Given the description of an element on the screen output the (x, y) to click on. 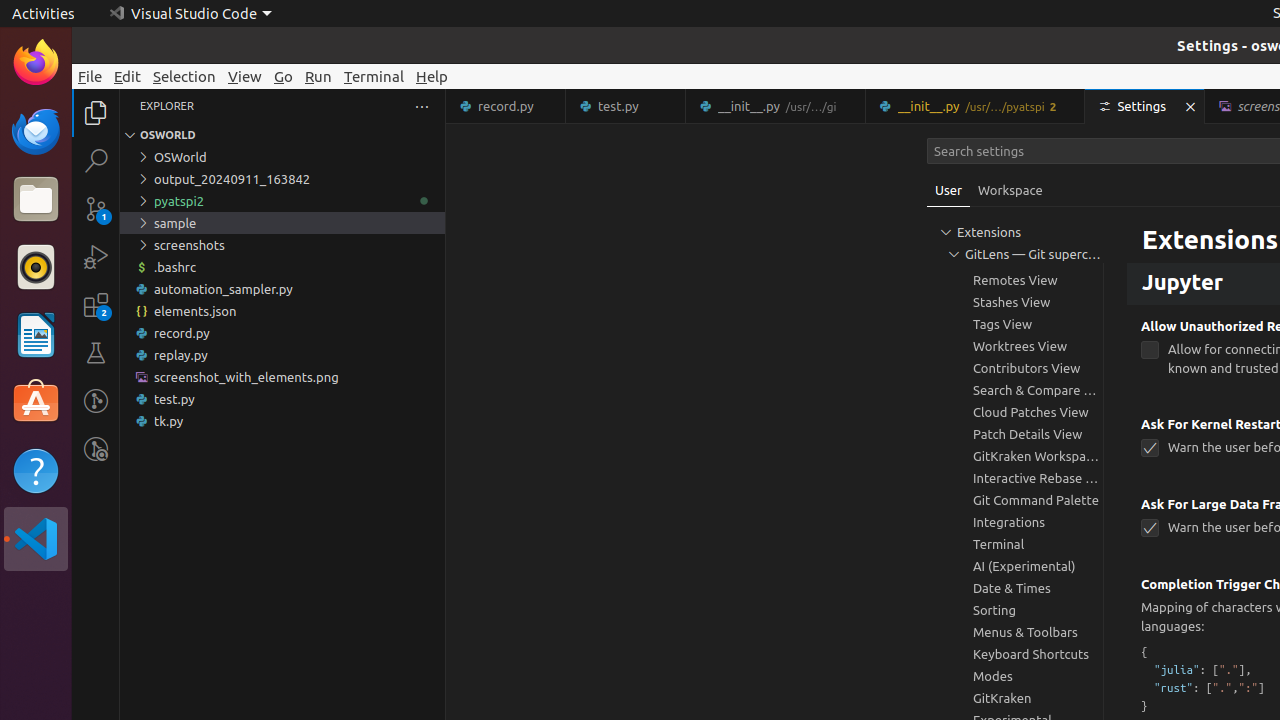
Explorer (Ctrl+Shift+E) Element type: page-tab (96, 113)
test.py Element type: page-tab (626, 106)
Contributors View, group Element type: tree-item (1015, 368)
Edit Element type: push-button (127, 76)
sample Element type: tree-item (282, 223)
